Given the description of an element on the screen output the (x, y) to click on. 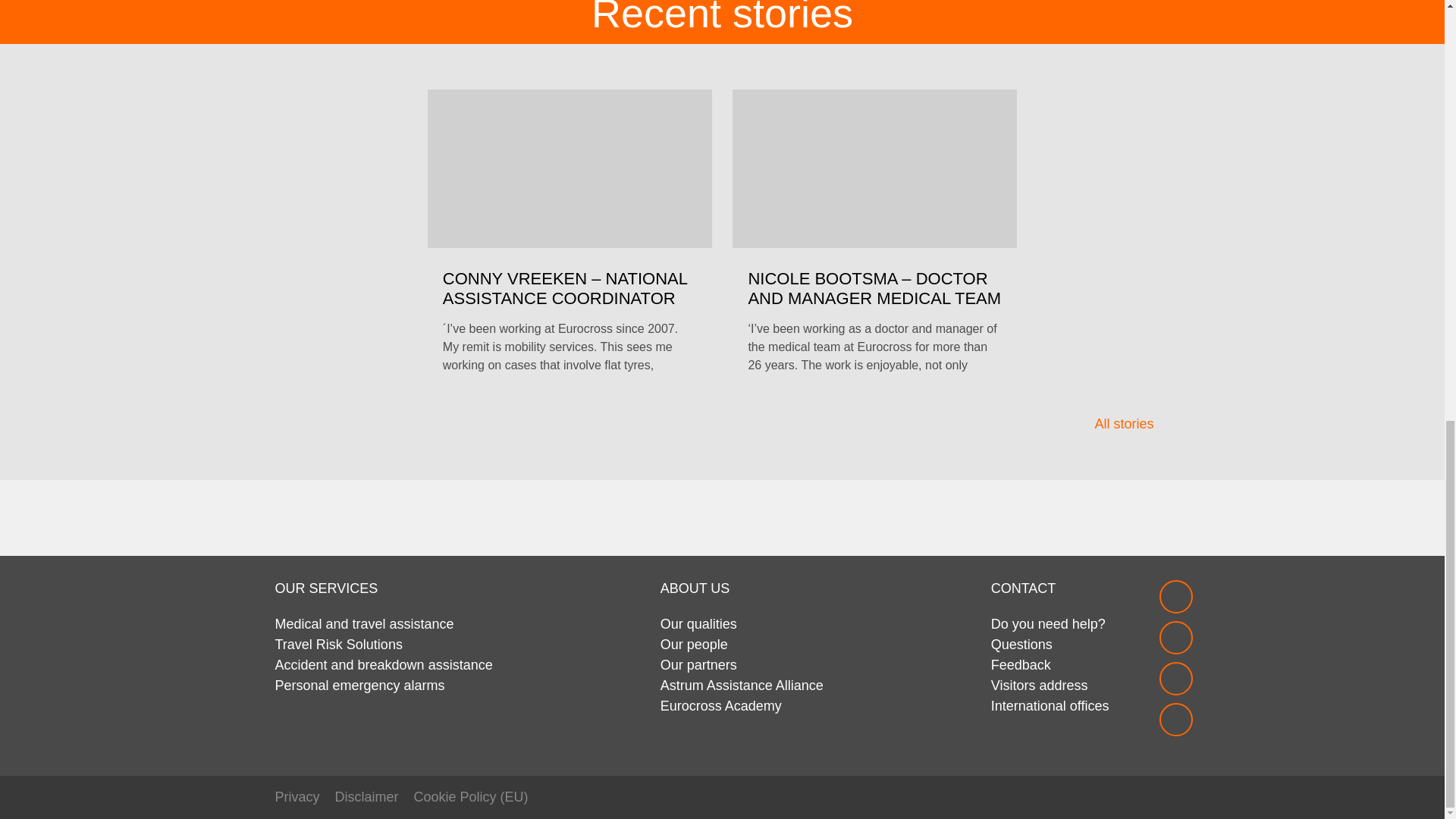
All stories (1131, 424)
